Given the description of an element on the screen output the (x, y) to click on. 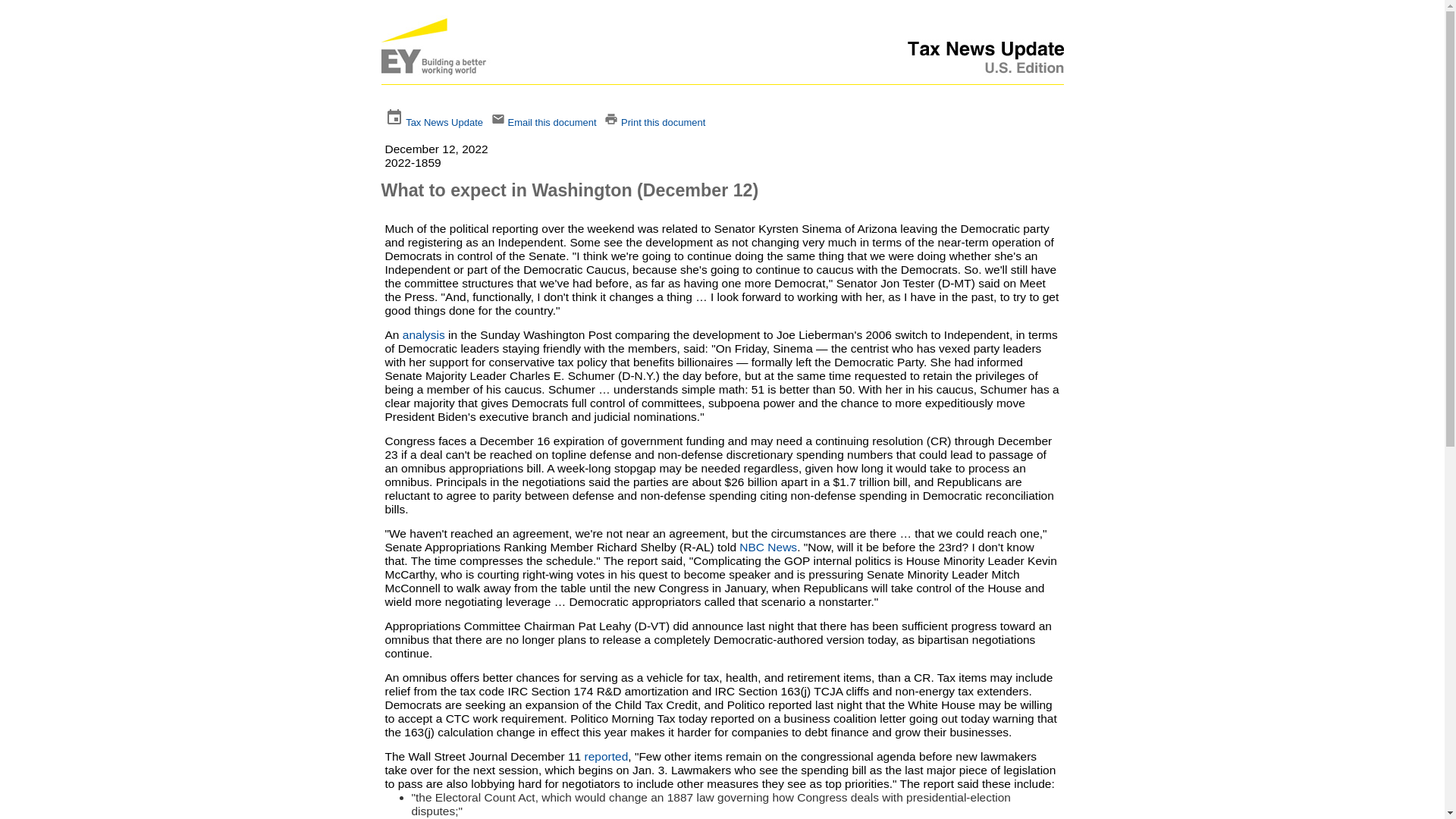
Tax News Update (444, 122)
NBC News (767, 546)
Email this document (550, 122)
Print this document (662, 122)
reported (606, 756)
analysis (424, 334)
